Given the description of an element on the screen output the (x, y) to click on. 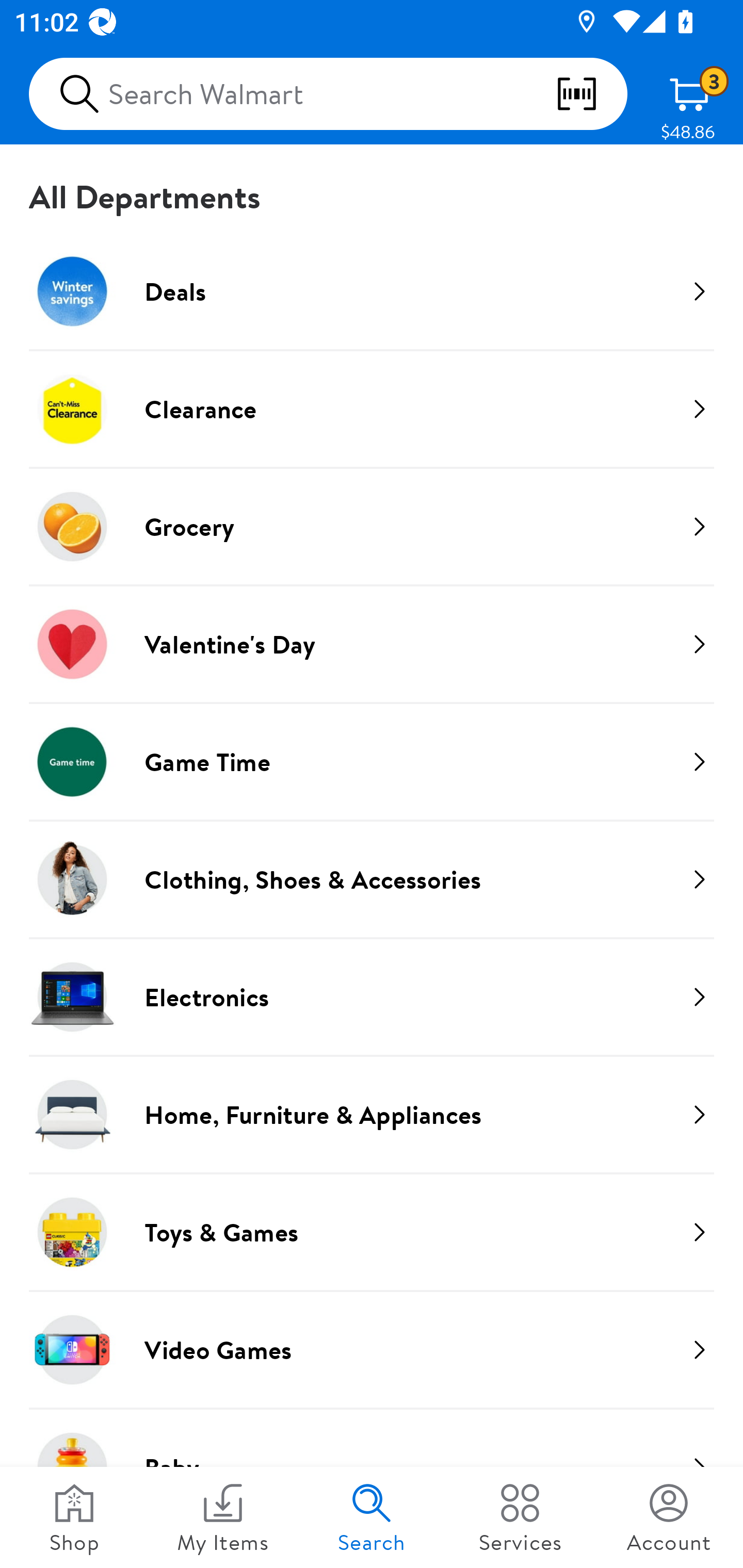
Search Walmart scan barcodes qr codes and more (327, 94)
scan barcodes qr codes and more (591, 94)
Deals (371, 291)
Clearance (371, 409)
Grocery (371, 526)
Valentine's Day (371, 644)
Game Time (371, 762)
Clothing, Shoes & Accessories (371, 879)
Electronics (371, 997)
Home, Furniture & Appliances (371, 1114)
Toys & Games (371, 1232)
Video Games (371, 1350)
Shop (74, 1517)
My Items (222, 1517)
Services (519, 1517)
Account (668, 1517)
